Given the description of an element on the screen output the (x, y) to click on. 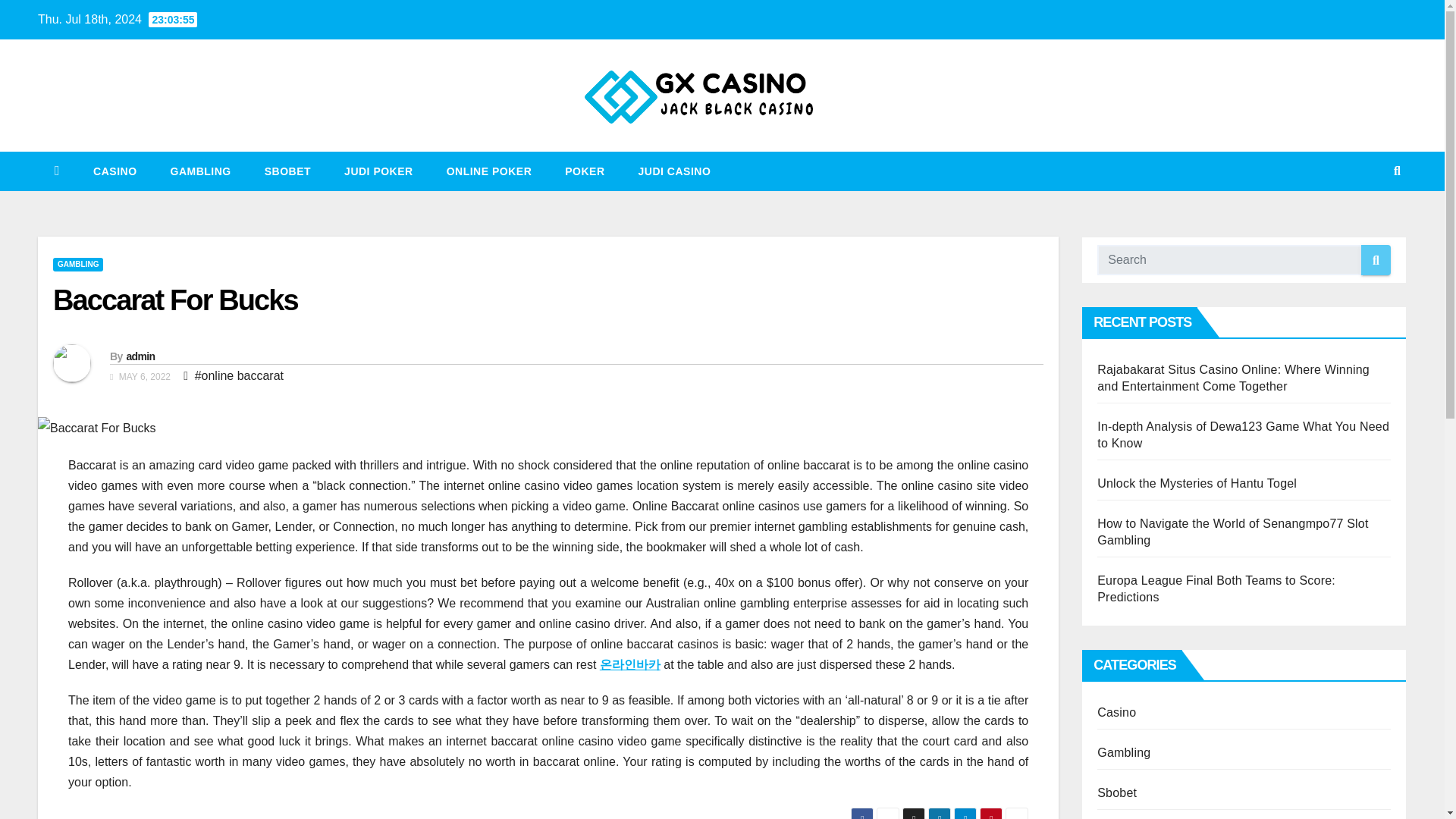
GAMBLING (200, 170)
admin (139, 356)
POKER (584, 170)
Poker (584, 170)
Judi Poker (378, 170)
JUDI CASINO (674, 170)
Sbobet (287, 170)
Gambling (200, 170)
Baccarat For Bucks (175, 300)
Judi Casino (674, 170)
JUDI POKER (378, 170)
CASINO (114, 170)
Online Poker (488, 170)
Casino (114, 170)
ONLINE POKER (488, 170)
